Given the description of an element on the screen output the (x, y) to click on. 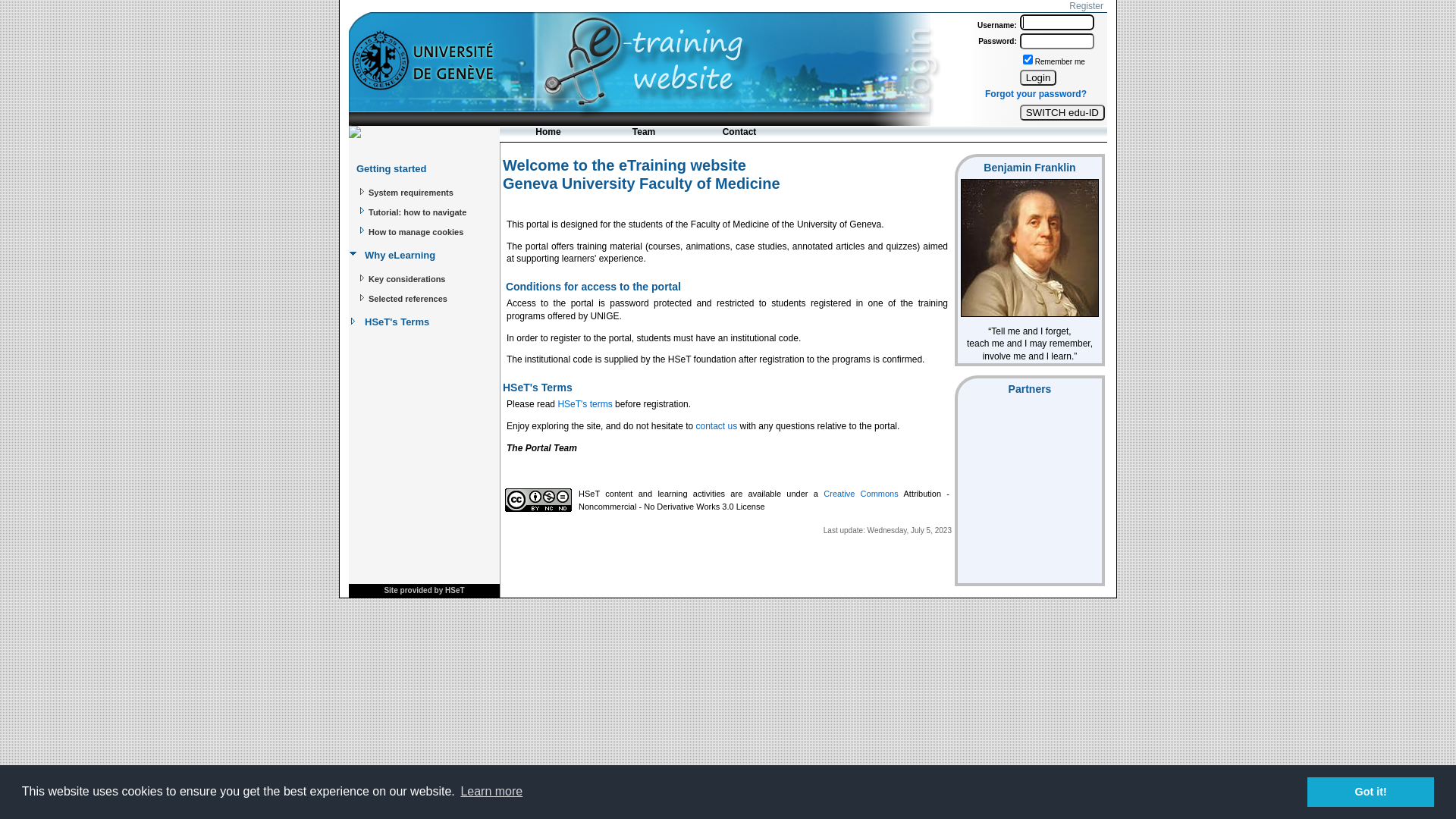
Site provided by HSeT Element type: text (423, 590)
Forgot your password? Element type: text (1035, 93)
Register Element type: text (1086, 5)
Creative Commons Element type: text (860, 493)
SWITCH edu-ID Element type: text (1061, 112)
Contact Element type: text (739, 133)
Team Element type: text (643, 133)
Login Element type: hover (1056, 22)
HSeT's terms Element type: text (584, 403)
contact us Element type: text (716, 425)
Password Element type: hover (1056, 41)
Got it! Element type: text (1370, 791)
Benjamin Franklin, 1706-1790 Element type: hover (1029, 247)
Login Element type: text (1038, 77)
Learn more Element type: text (491, 791)
Home Element type: text (548, 133)
